Given the description of an element on the screen output the (x, y) to click on. 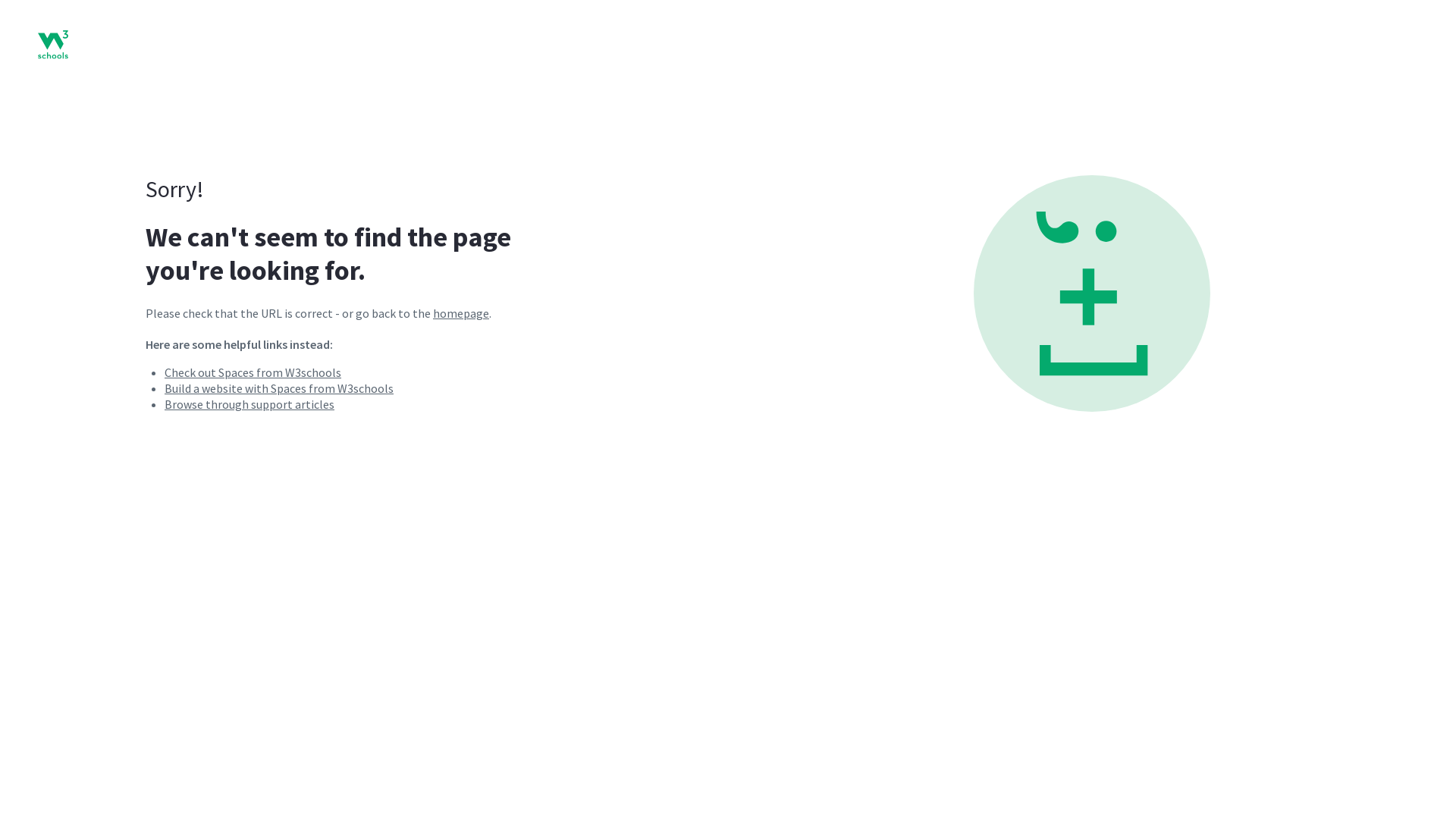
Check out Spaces from W3schools Element type: text (252, 371)
Build a website with Spaces from W3schools Element type: text (278, 387)
homepage Element type: text (461, 312)
Browse through support articles Element type: text (249, 403)
